Given the description of an element on the screen output the (x, y) to click on. 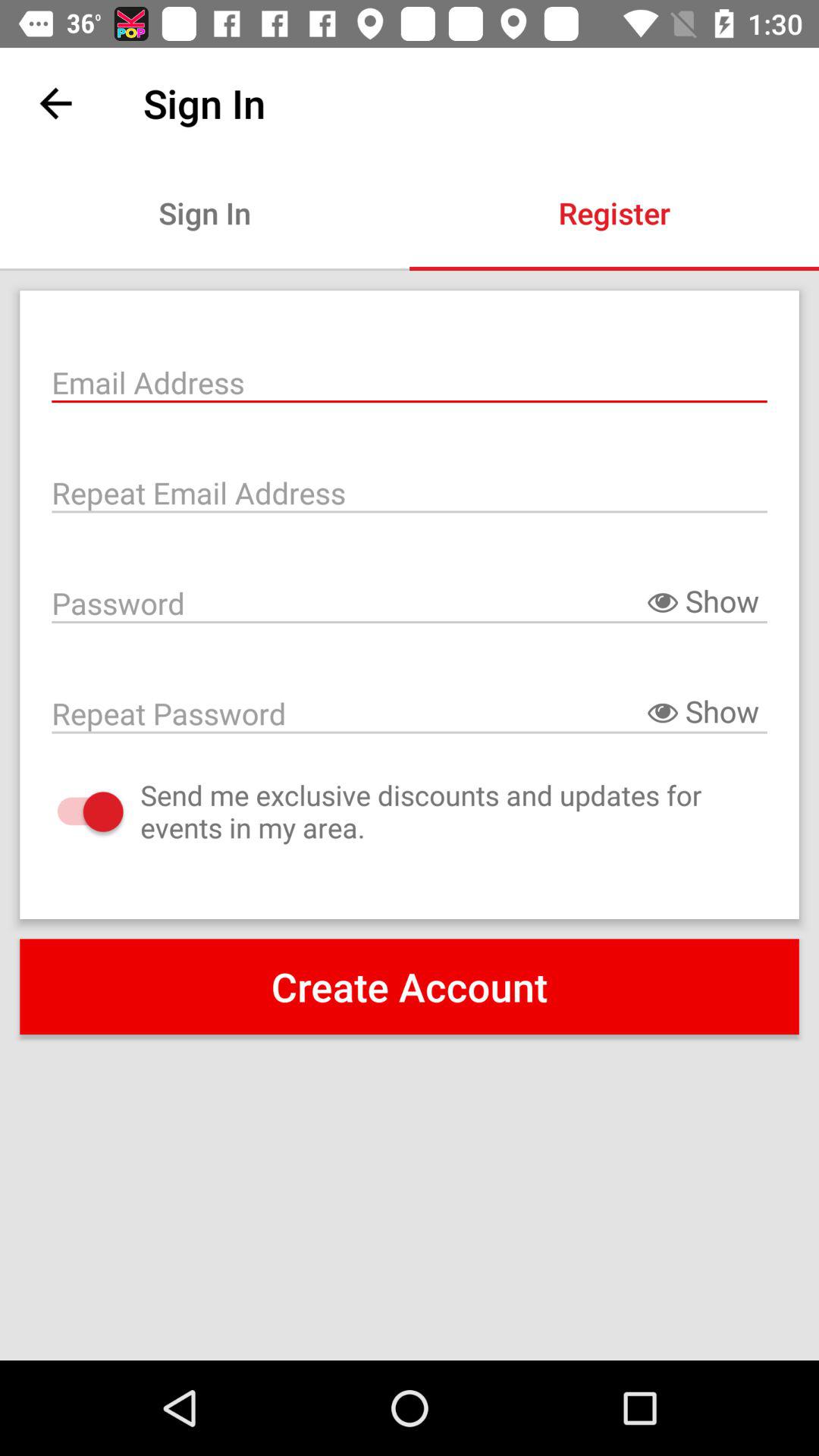
marketing consent (74, 811)
